Given the description of an element on the screen output the (x, y) to click on. 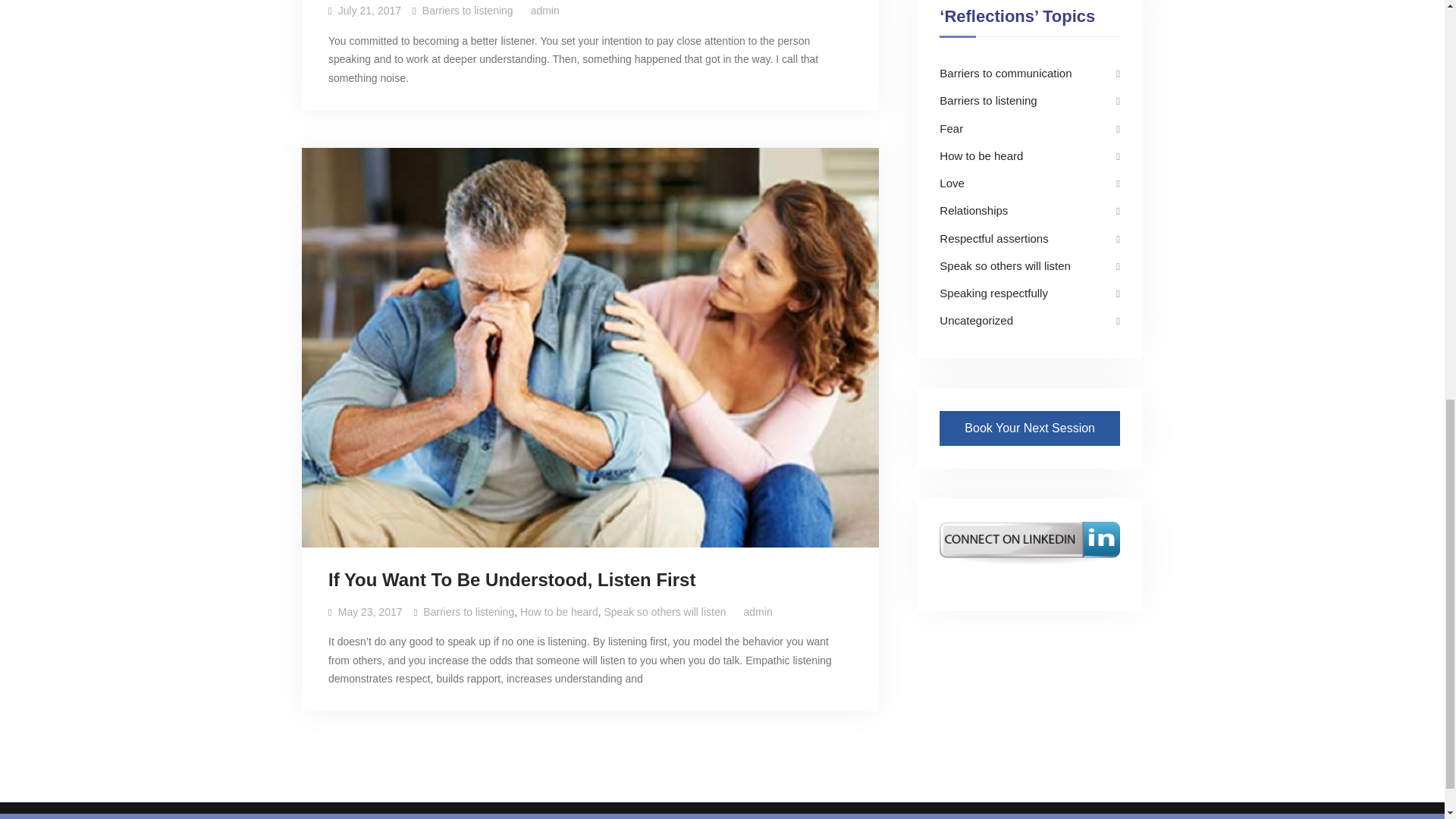
admin (545, 10)
admin (758, 612)
Speak so others will listen (1004, 265)
Love (951, 182)
How to be heard (558, 612)
Book Your Next Session (1029, 428)
May 23, 2017 (370, 612)
Barriers to listening (468, 612)
Fear (950, 127)
Barriers to listening (467, 10)
How to be heard (981, 155)
If You Want To Be Understood, Listen First (512, 579)
Uncategorized (976, 319)
July 21, 2017 (369, 10)
Barriers to communication (1005, 72)
